Given the description of an element on the screen output the (x, y) to click on. 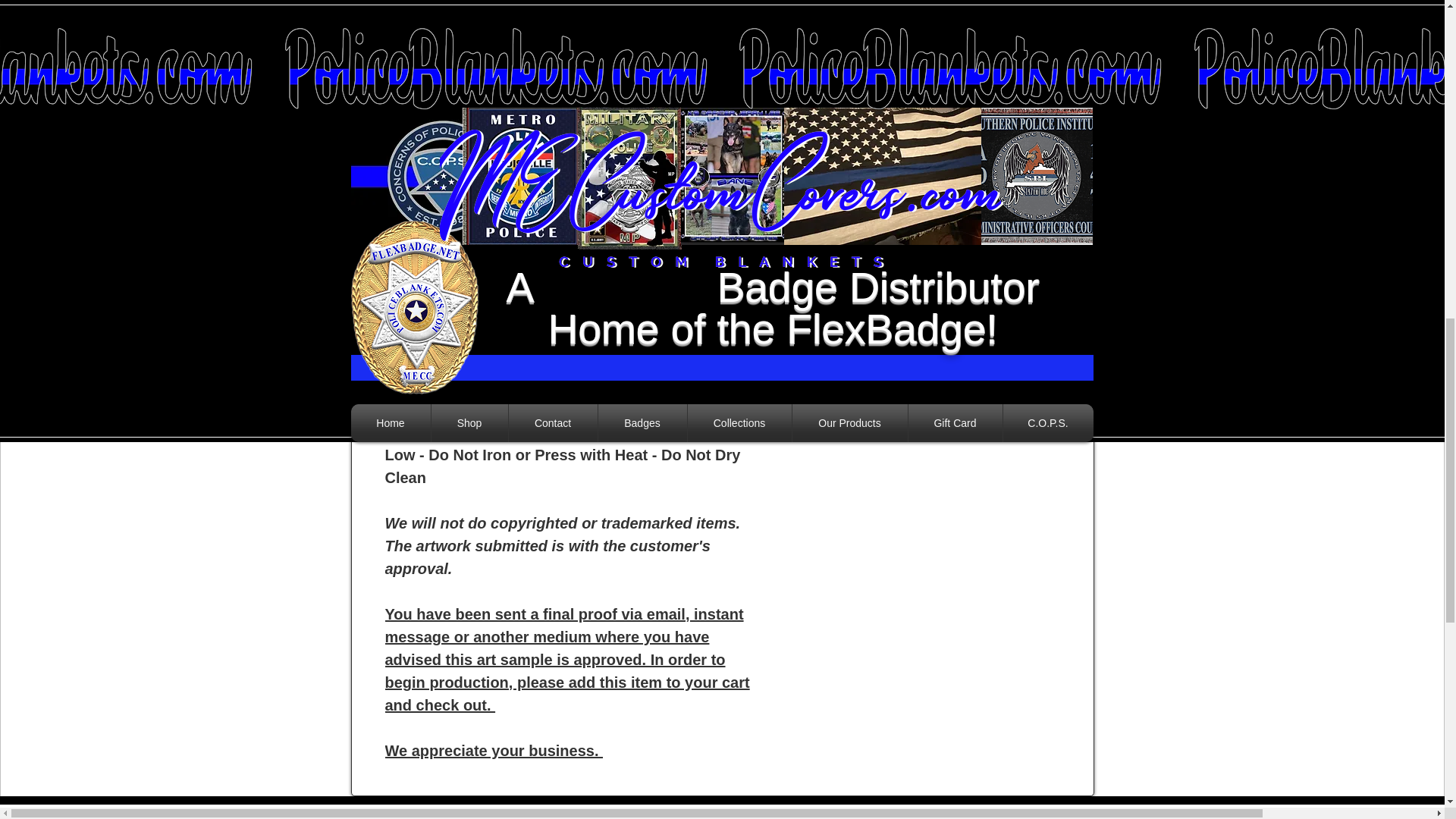
1 (827, 24)
Non Refundable (924, 186)
Buy Now (924, 124)
Add to Cart (924, 80)
